Given the description of an element on the screen output the (x, y) to click on. 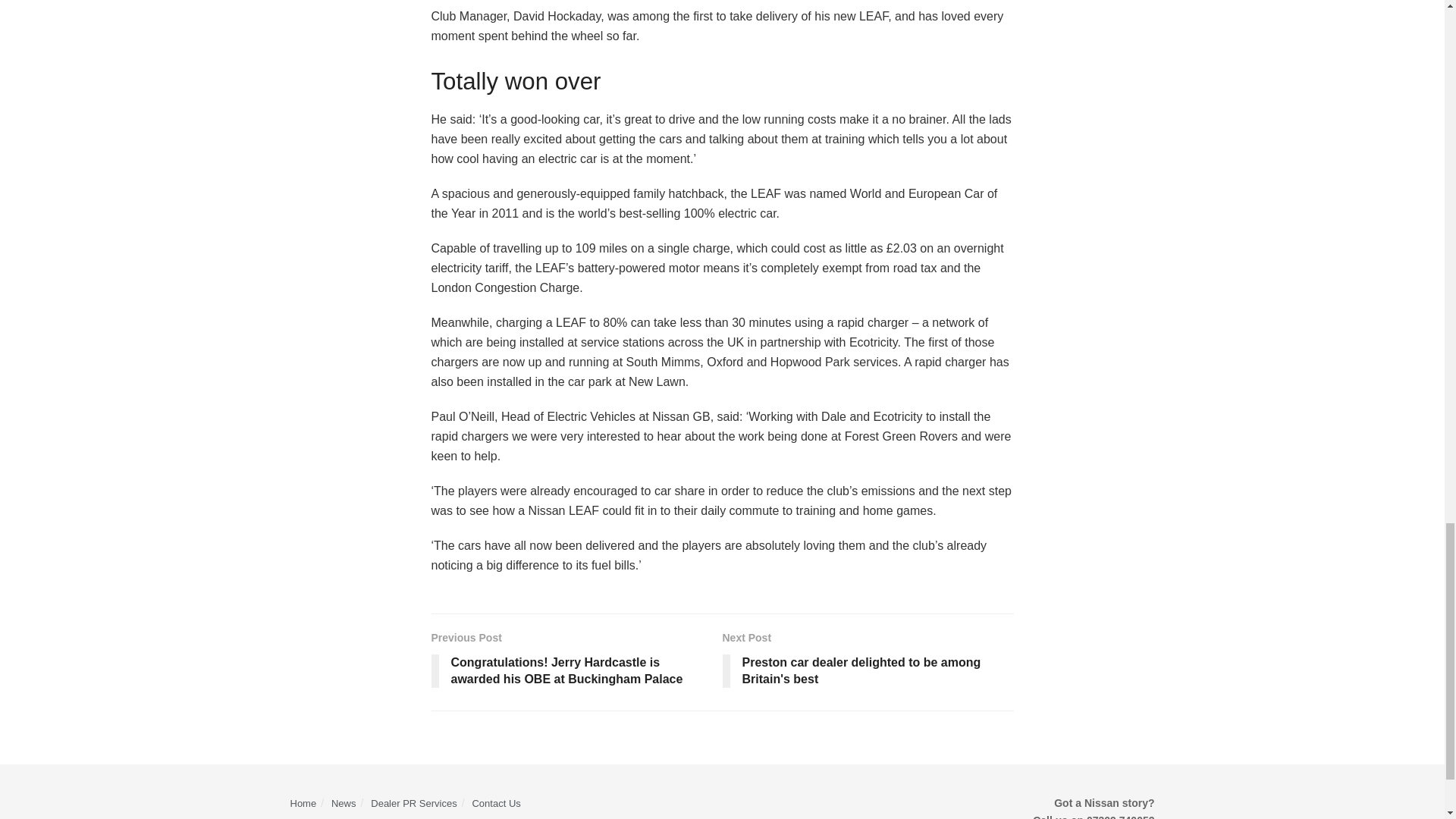
Contact Us (495, 803)
News (343, 803)
Dealer PR Services (414, 803)
Home (302, 803)
